Given the description of an element on the screen output the (x, y) to click on. 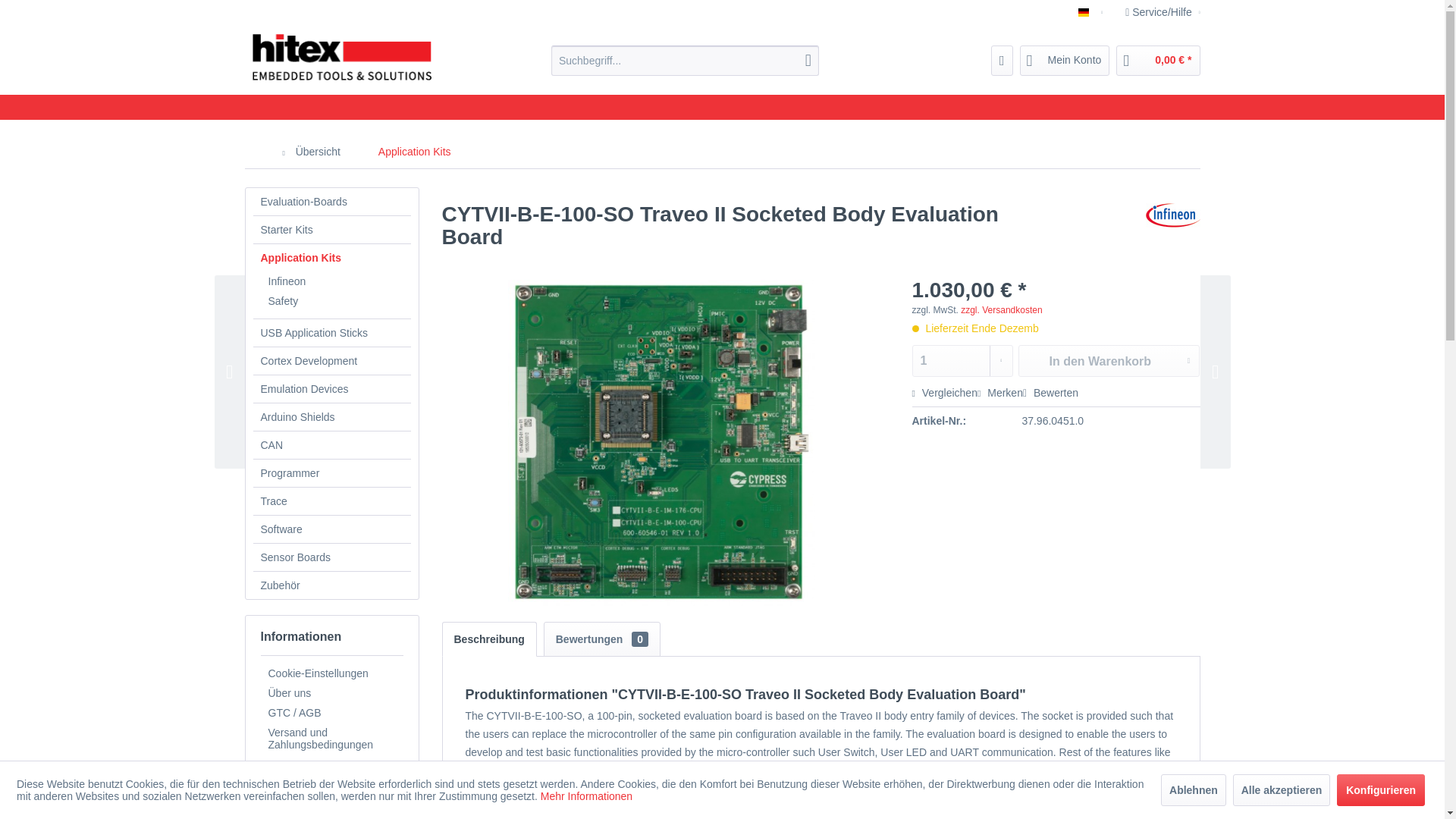
Evaluation-Boards (331, 201)
Application Kits (331, 257)
Mein Konto (1064, 60)
Mein Konto (1064, 60)
USB Application Sticks (331, 332)
Warenkorb (1157, 60)
Safety (335, 301)
Hitex - zur Startseite wechseln (340, 57)
Infineon (335, 281)
Application Kits (414, 151)
Starter Kits (331, 229)
